Given the description of an element on the screen output the (x, y) to click on. 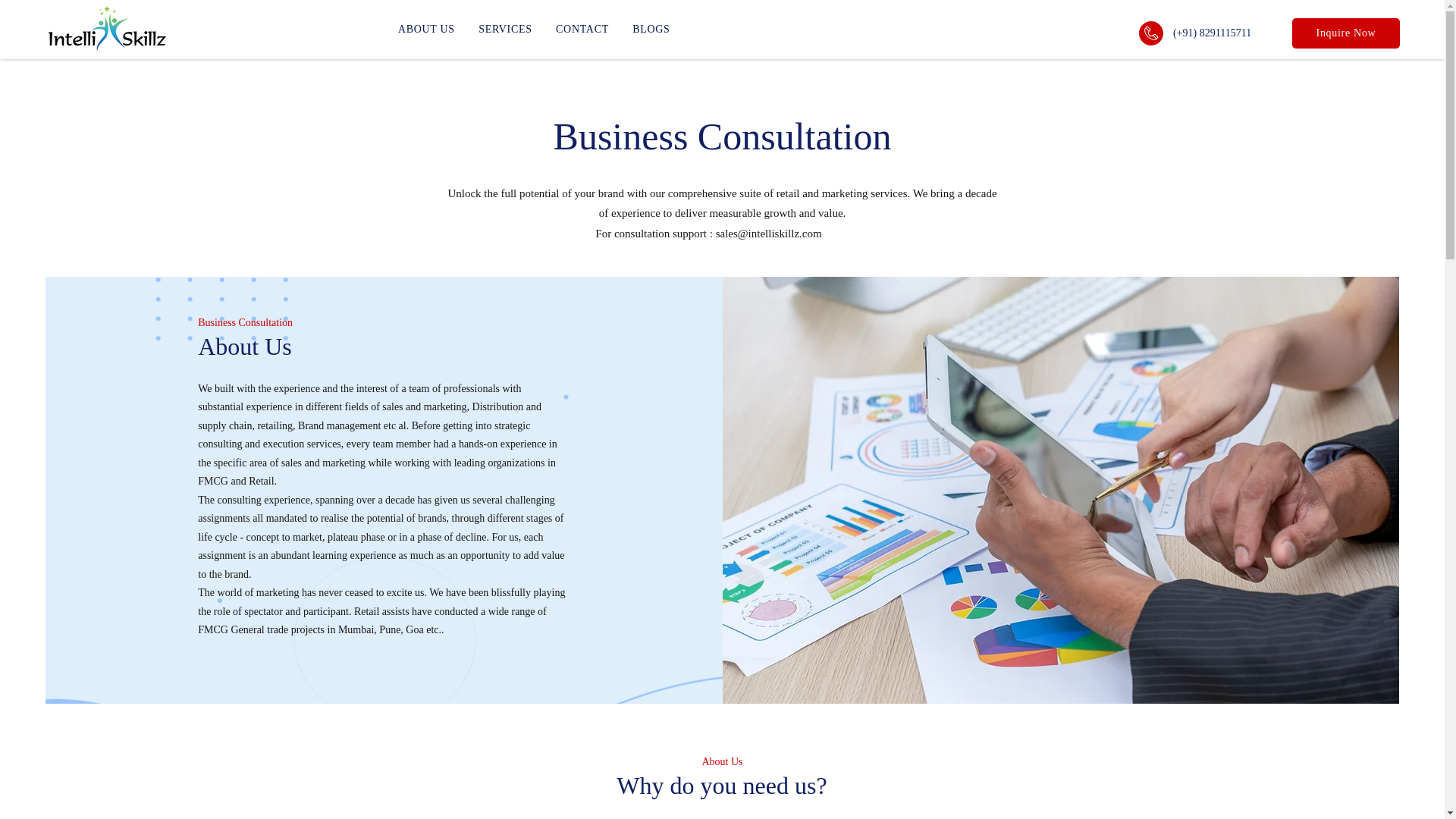
BLOGS (533, 29)
IntelliSkillz.png (651, 29)
CONTACT (106, 28)
Inquire Now (582, 29)
ABOUT US (1345, 33)
